Given the description of an element on the screen output the (x, y) to click on. 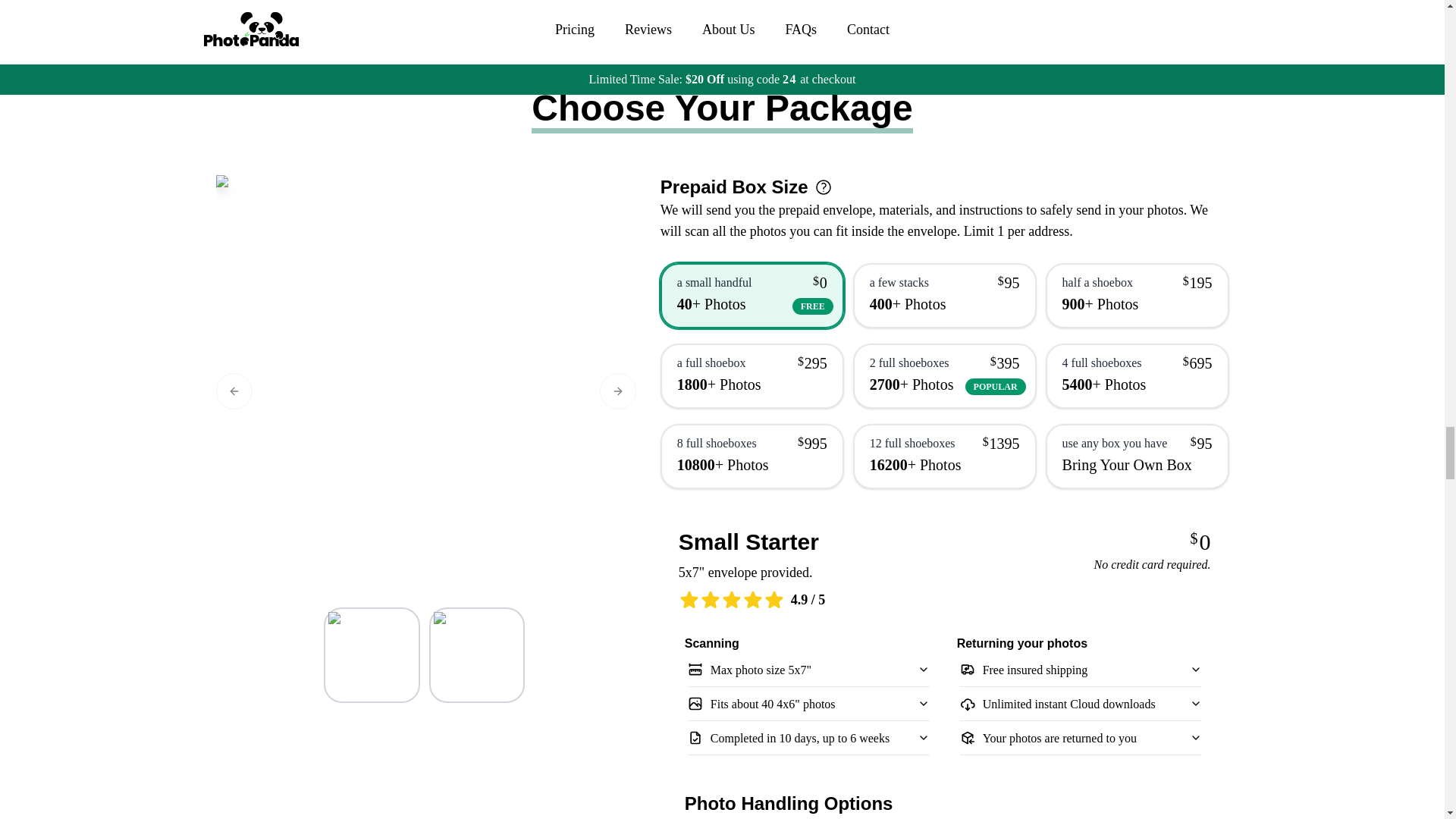
Your photos are returned to you (1080, 736)
Fits about 40 4x6" photos (808, 703)
Previous slide (233, 391)
Completed in 10 days, up to 6 weeks (808, 736)
Unlimited instant Cloud downloads (1080, 703)
Next slide (617, 391)
Max photo size 5x7" (808, 668)
Free insured shipping (1080, 668)
